Given the description of an element on the screen output the (x, y) to click on. 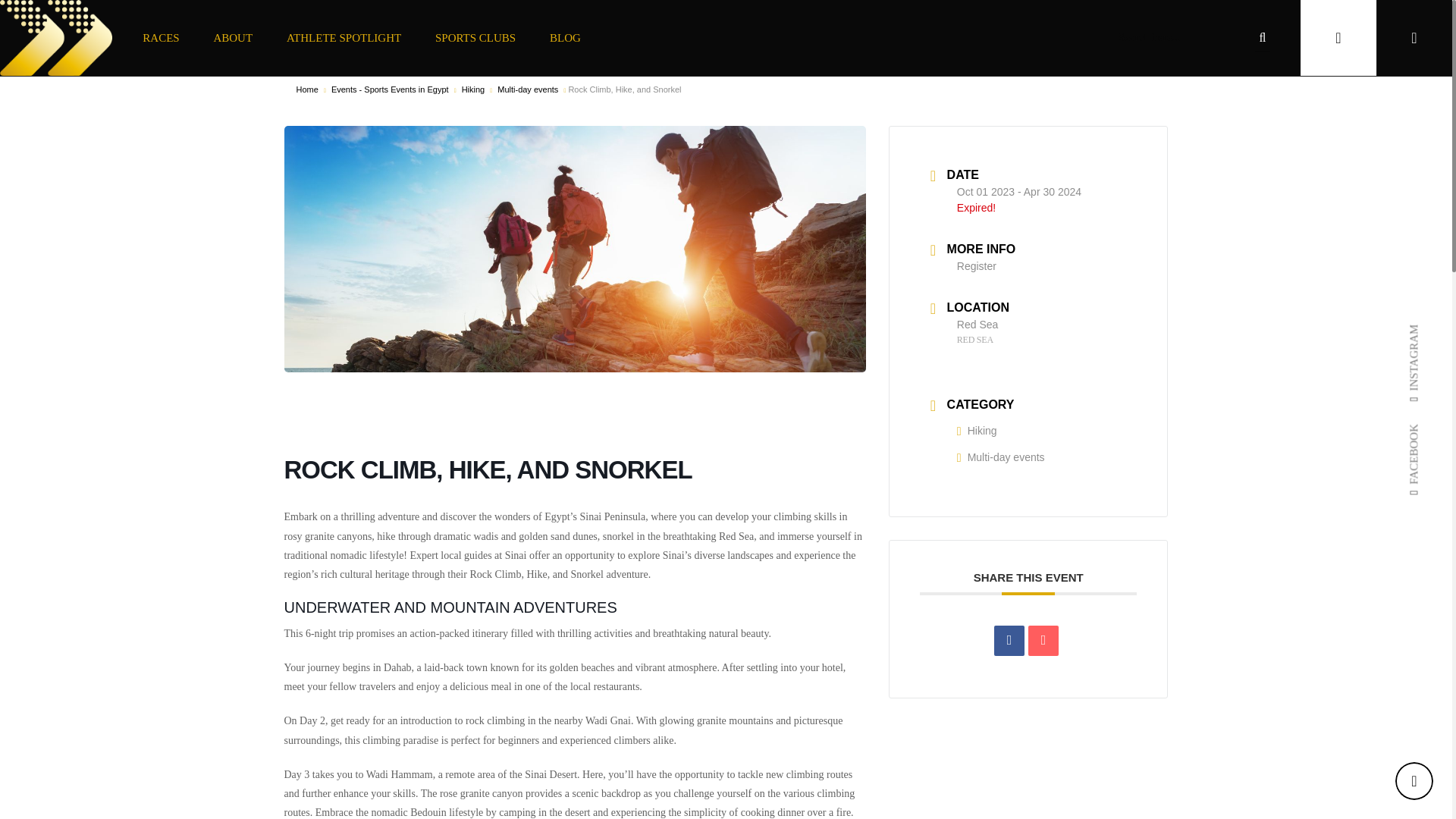
SPORTS CLUBS (475, 37)
ABOUT (231, 37)
ATHLETE SPOTLIGHT (343, 37)
Share on Facebook (1009, 639)
Email (1042, 639)
BLOG (565, 37)
RACES (160, 37)
